Given the description of an element on the screen output the (x, y) to click on. 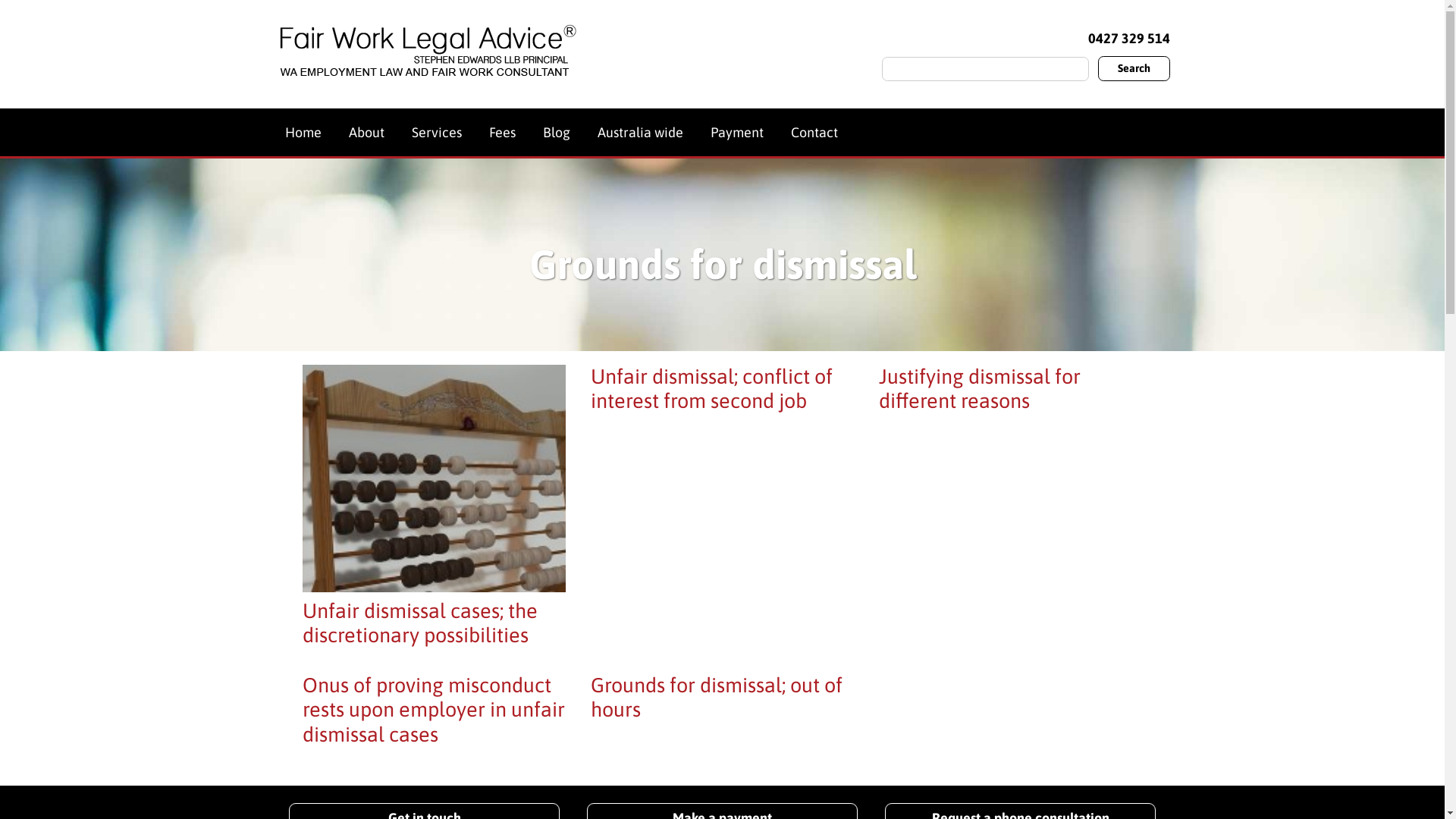
About Element type: text (366, 132)
Contact Element type: text (814, 132)
Australia wide Element type: text (639, 132)
Home Element type: text (302, 132)
Blog Element type: text (556, 132)
0427 329 514 Element type: text (1125, 38)
Unfair dismissal cases; the discretionary possibilities Element type: text (418, 622)
Justifying dismissal for different reasons Element type: text (979, 388)
Services Element type: text (436, 132)
Grounds for dismissal; out of hours Element type: text (716, 697)
Payment Element type: text (737, 132)
Fees Element type: text (502, 132)
Unfair dismissal; conflict of interest from second job Element type: text (711, 388)
Search Element type: text (1133, 68)
